Given the description of an element on the screen output the (x, y) to click on. 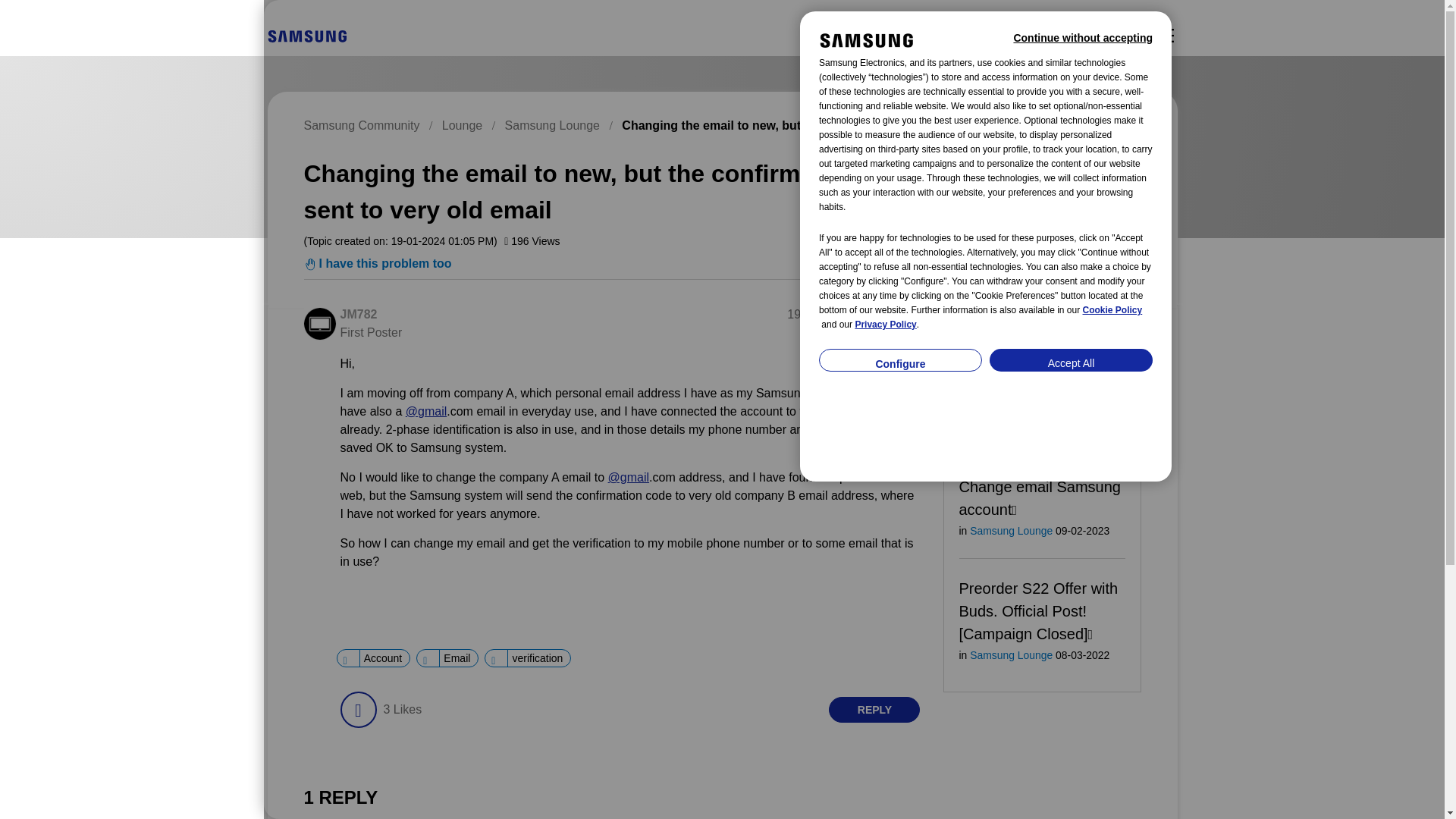
Nordics (306, 36)
Click here to give likes to this post. (357, 709)
Lounge (461, 124)
Email (456, 658)
REPLY (874, 709)
Nordics (306, 34)
Show option menu (912, 315)
3 Likes (401, 709)
verification (536, 658)
Click here to see who gave likes to this post. (401, 709)
